Given the description of an element on the screen output the (x, y) to click on. 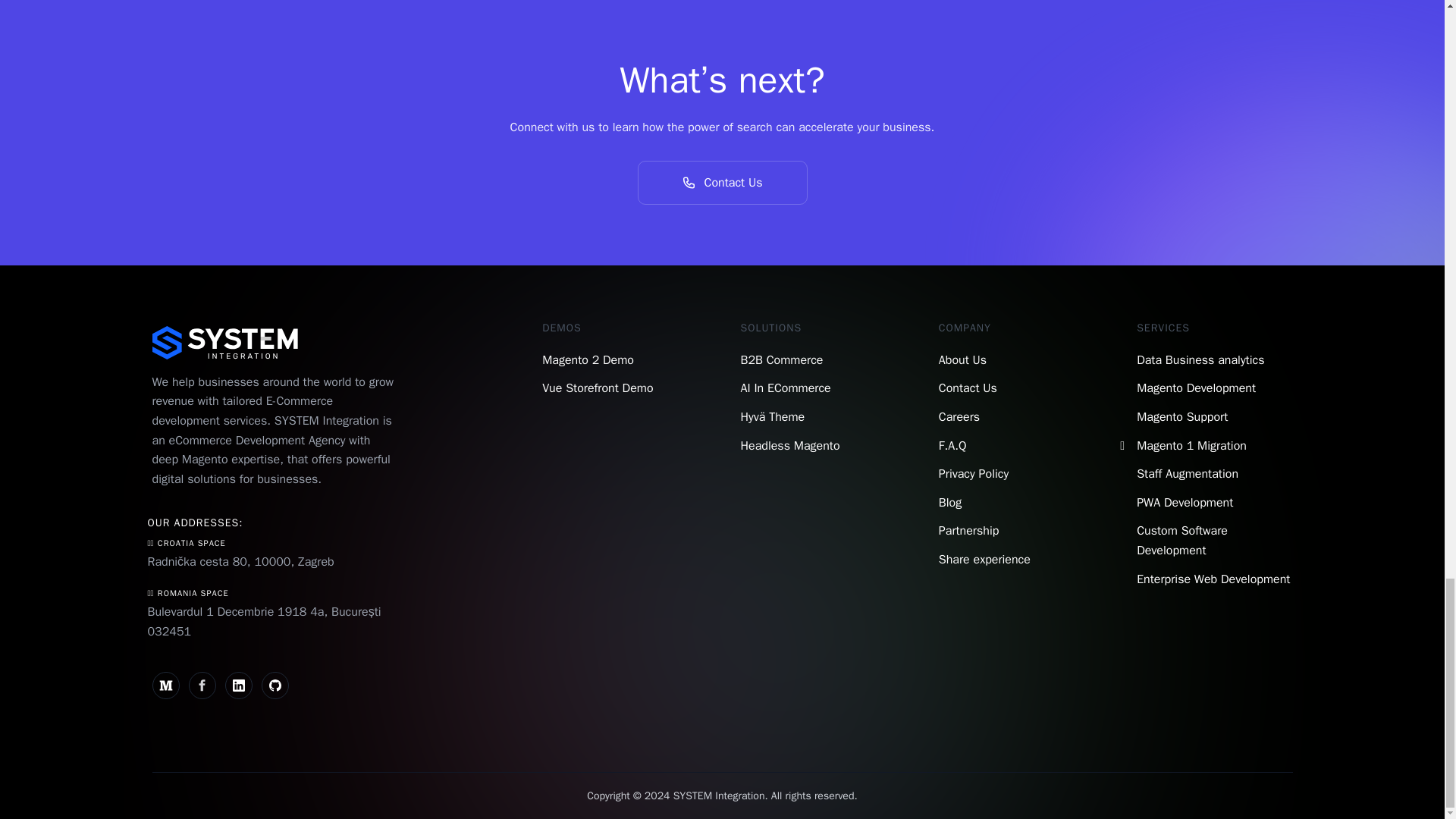
Careers (959, 417)
B2B Commerce (780, 359)
SERVICES (1163, 327)
Magento Development (1196, 387)
Contact Us (968, 387)
Privacy Policy (974, 473)
About Us (963, 359)
SOLUTIONS (770, 327)
Share experience (984, 559)
AI In ECommerce (784, 387)
Contact Us (721, 182)
Magento 2 Demo (587, 359)
Blog (949, 502)
F.A.Q (952, 445)
Data Business analytics (1200, 359)
